Given the description of an element on the screen output the (x, y) to click on. 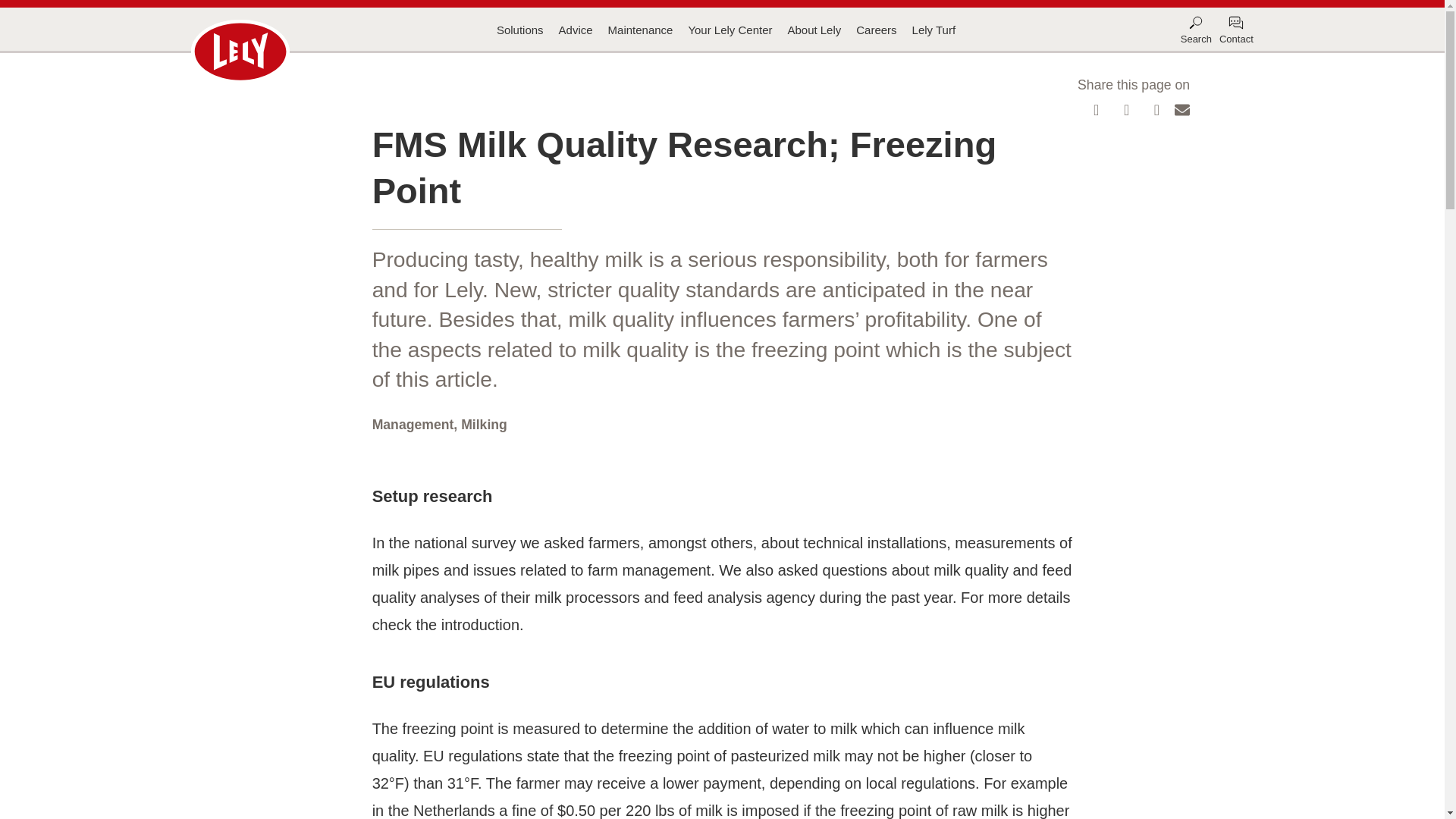
Contact (1236, 29)
About Lely (814, 29)
Maintenance (640, 29)
Go to home page (239, 51)
Advice (575, 29)
Your Lely Center (729, 29)
Solutions (519, 29)
